Given the description of an element on the screen output the (x, y) to click on. 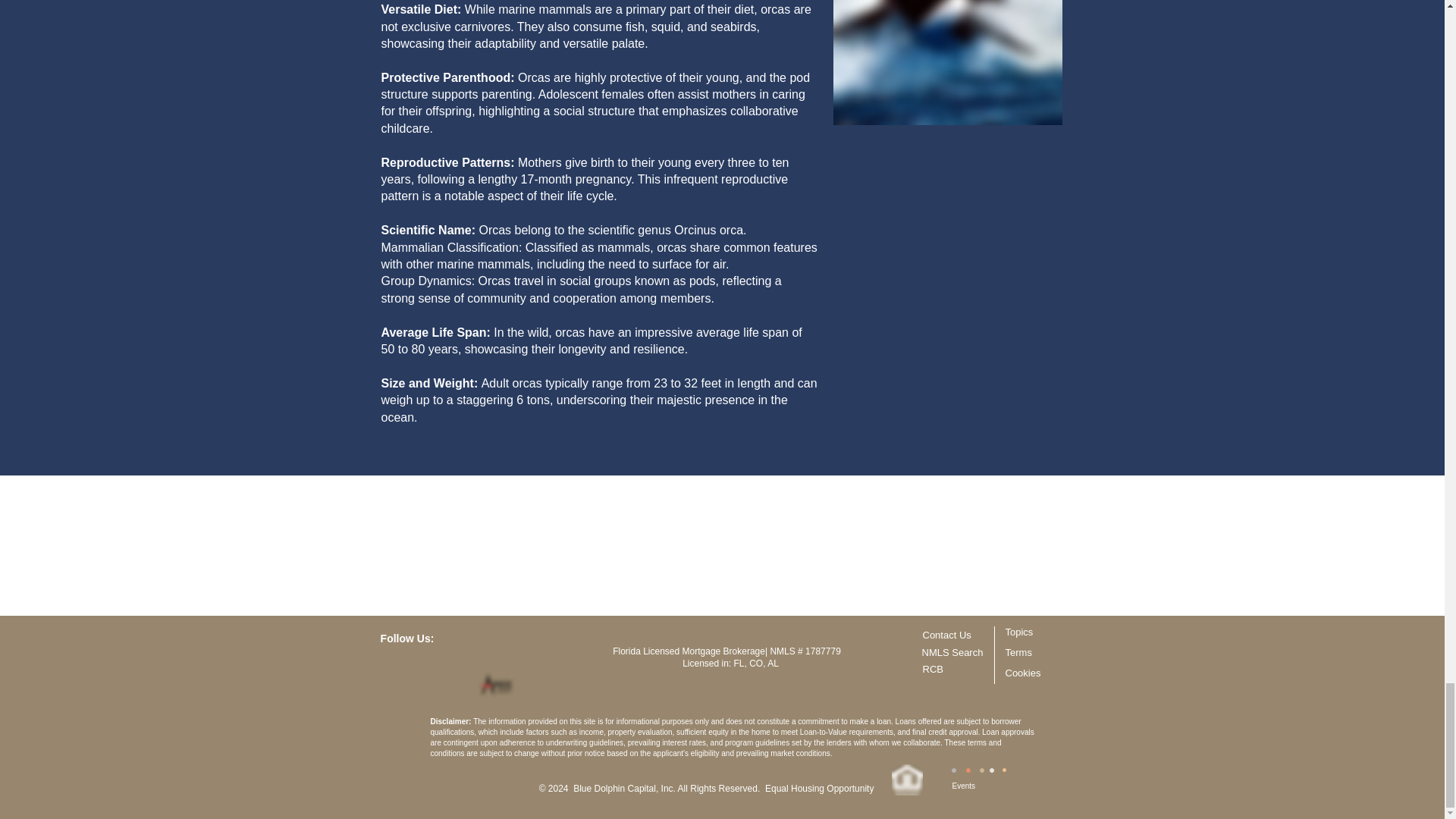
Contact Us (946, 634)
Cookies (1023, 672)
Events (963, 786)
Terms (1019, 652)
NMLS Search (952, 652)
